Given the description of an element on the screen output the (x, y) to click on. 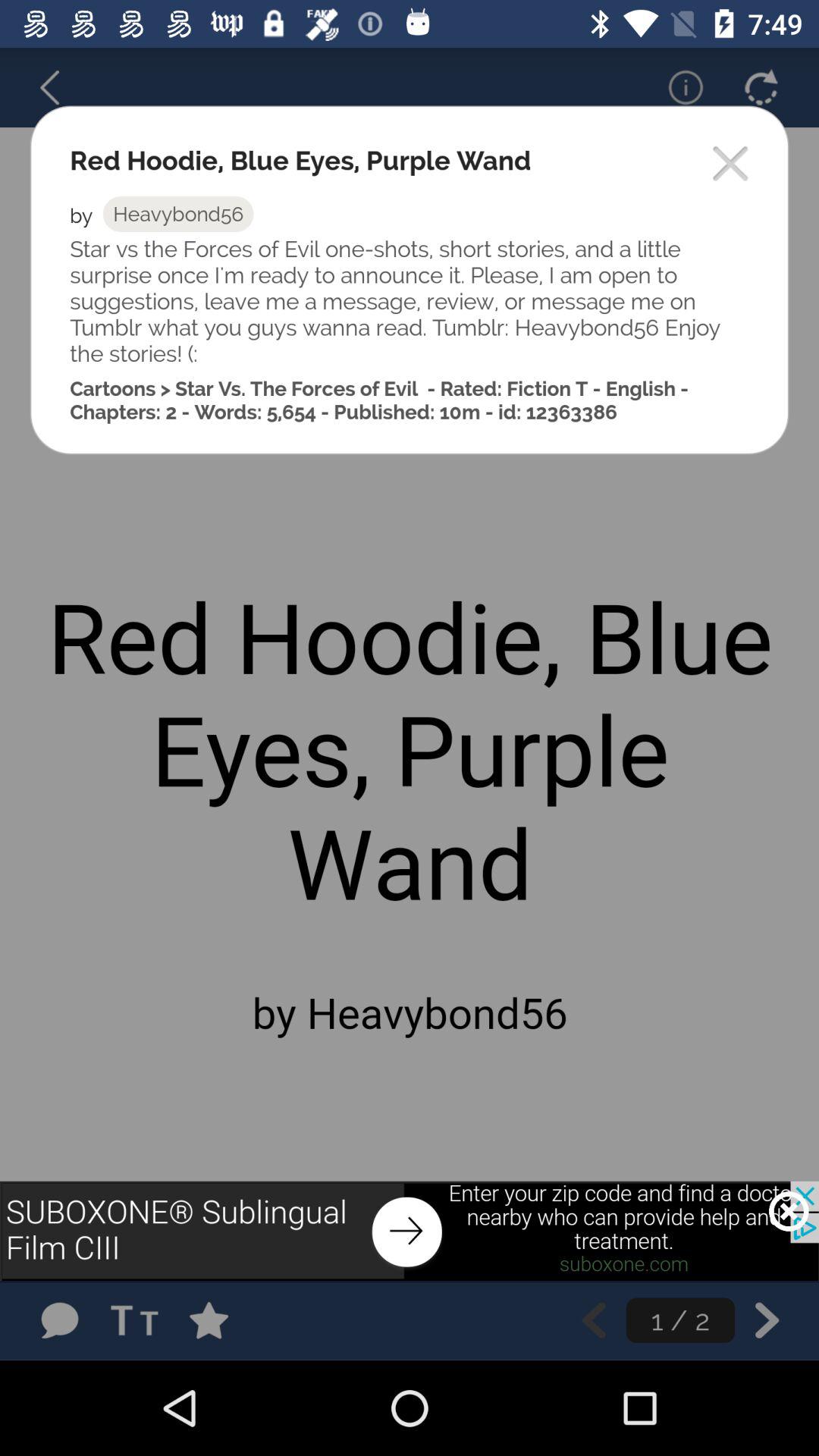
next page (767, 1320)
